Given the description of an element on the screen output the (x, y) to click on. 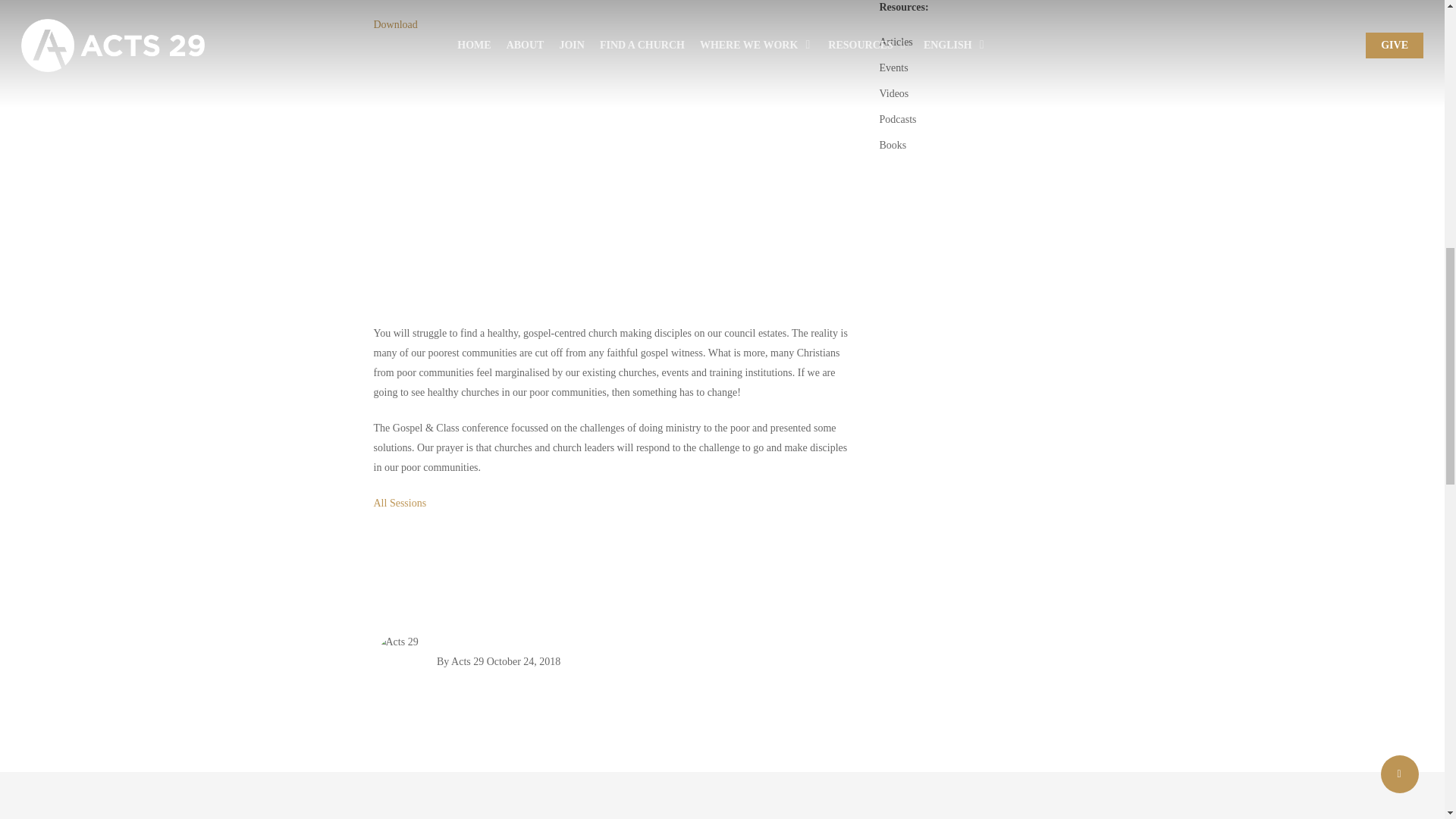
Download (394, 24)
All Sessions (399, 502)
Events (974, 67)
Articles (974, 42)
Videos (974, 94)
